Given the description of an element on the screen output the (x, y) to click on. 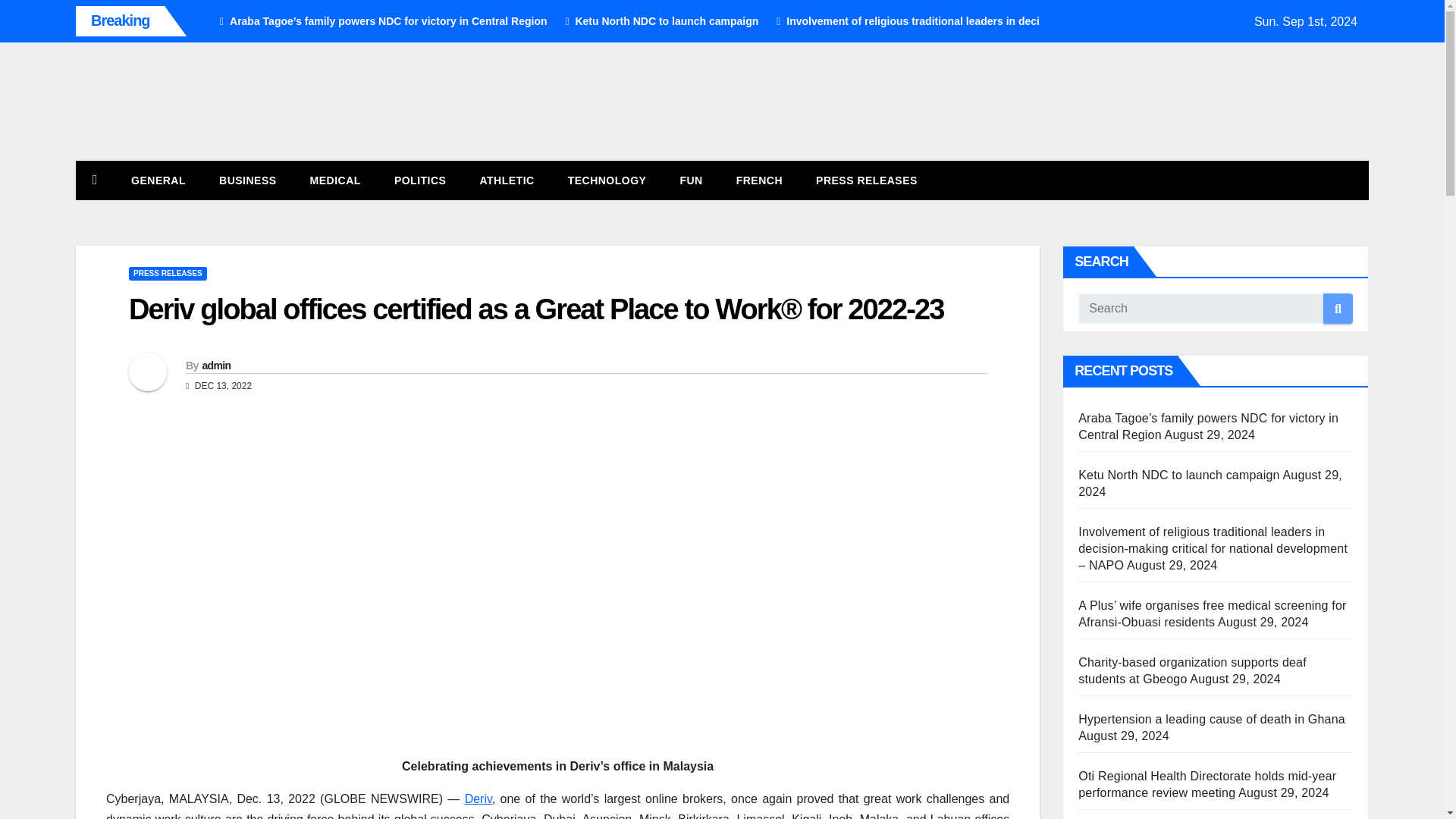
FRENCH (759, 179)
FUN (690, 179)
MEDICAL (335, 179)
Business (248, 179)
GENERAL (158, 179)
Medical (335, 179)
Fun (690, 179)
Politics (420, 179)
Athletic (506, 179)
Ketu North NDC to launch campaign (655, 21)
